Given the description of an element on the screen output the (x, y) to click on. 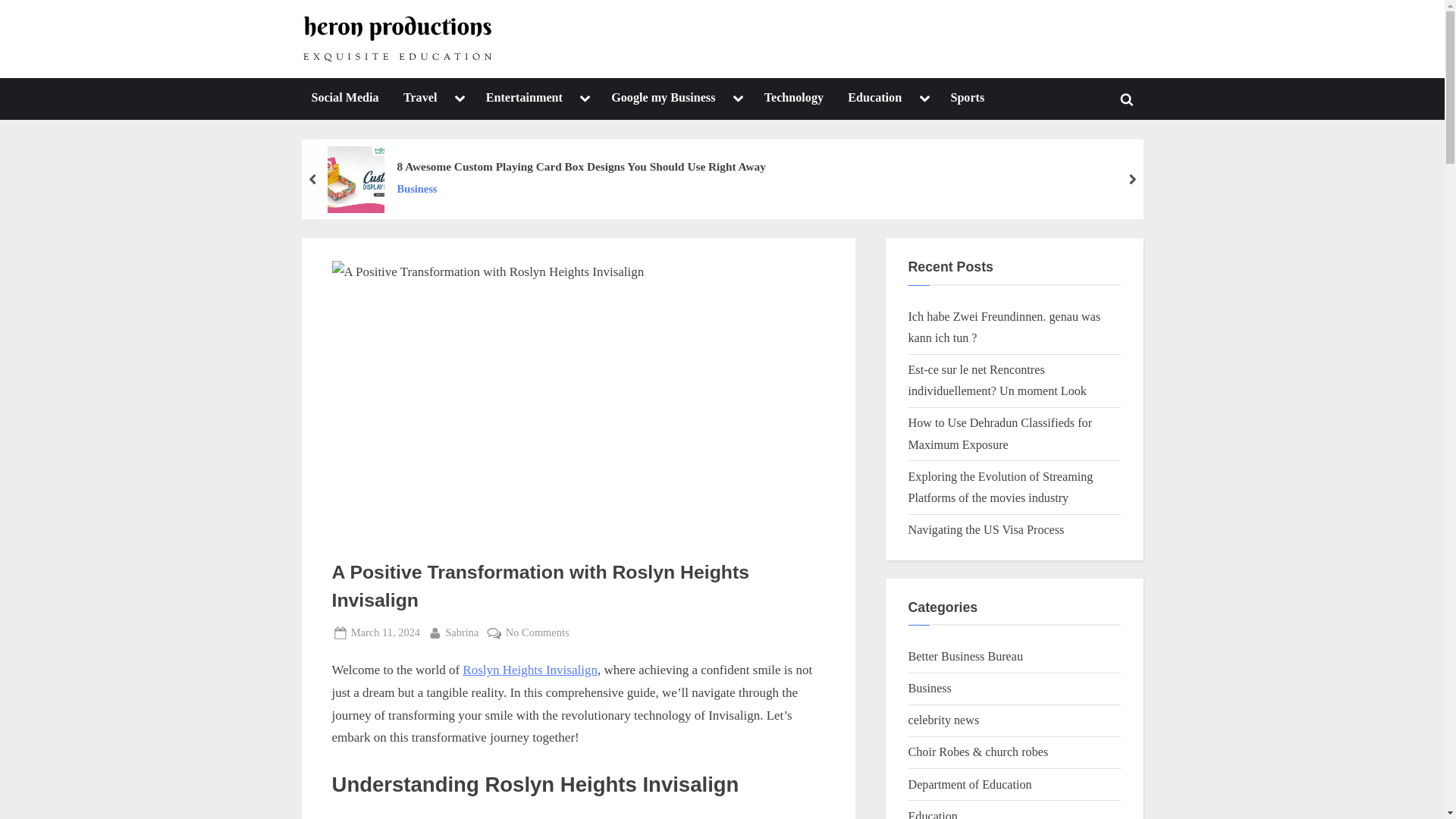
Sports (967, 98)
Toggle search form (1126, 99)
Entertainment (524, 98)
Google my Business (663, 98)
Business (580, 189)
heronproductions (572, 50)
Toggle sub-menu (924, 98)
Education (874, 98)
Toggle sub-menu (737, 98)
